Given the description of an element on the screen output the (x, y) to click on. 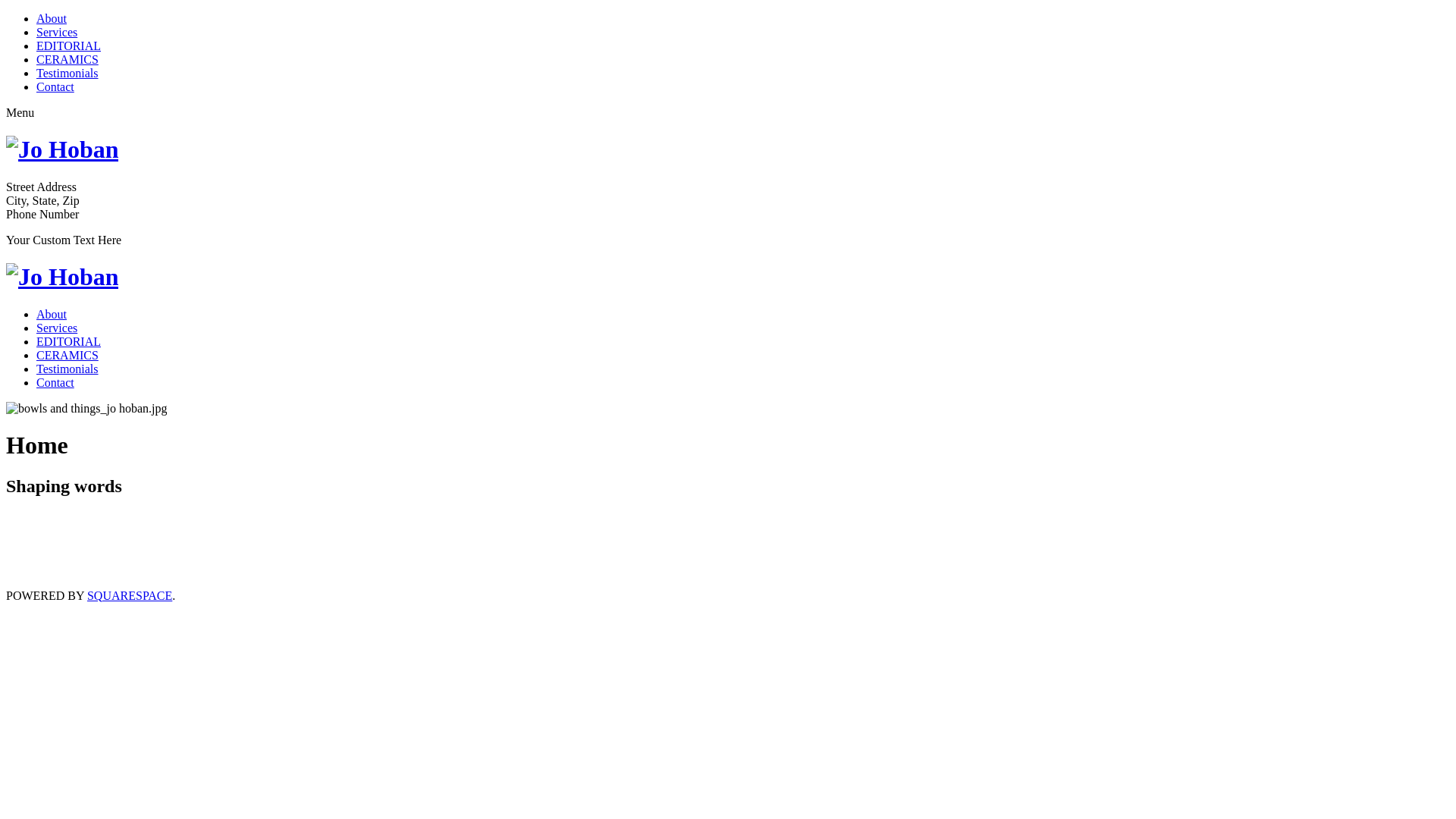
EDITORIAL Element type: text (68, 341)
Testimonials Element type: text (67, 368)
Services Element type: text (56, 31)
Contact Element type: text (55, 382)
About Element type: text (51, 18)
SQUARESPACE Element type: text (129, 595)
EDITORIAL Element type: text (68, 45)
Contact Element type: text (55, 86)
Menu Element type: text (20, 112)
Services Element type: text (56, 327)
CERAMICS Element type: text (67, 354)
Testimonials Element type: text (67, 72)
About Element type: text (51, 313)
CERAMICS Element type: text (67, 59)
